Given the description of an element on the screen output the (x, y) to click on. 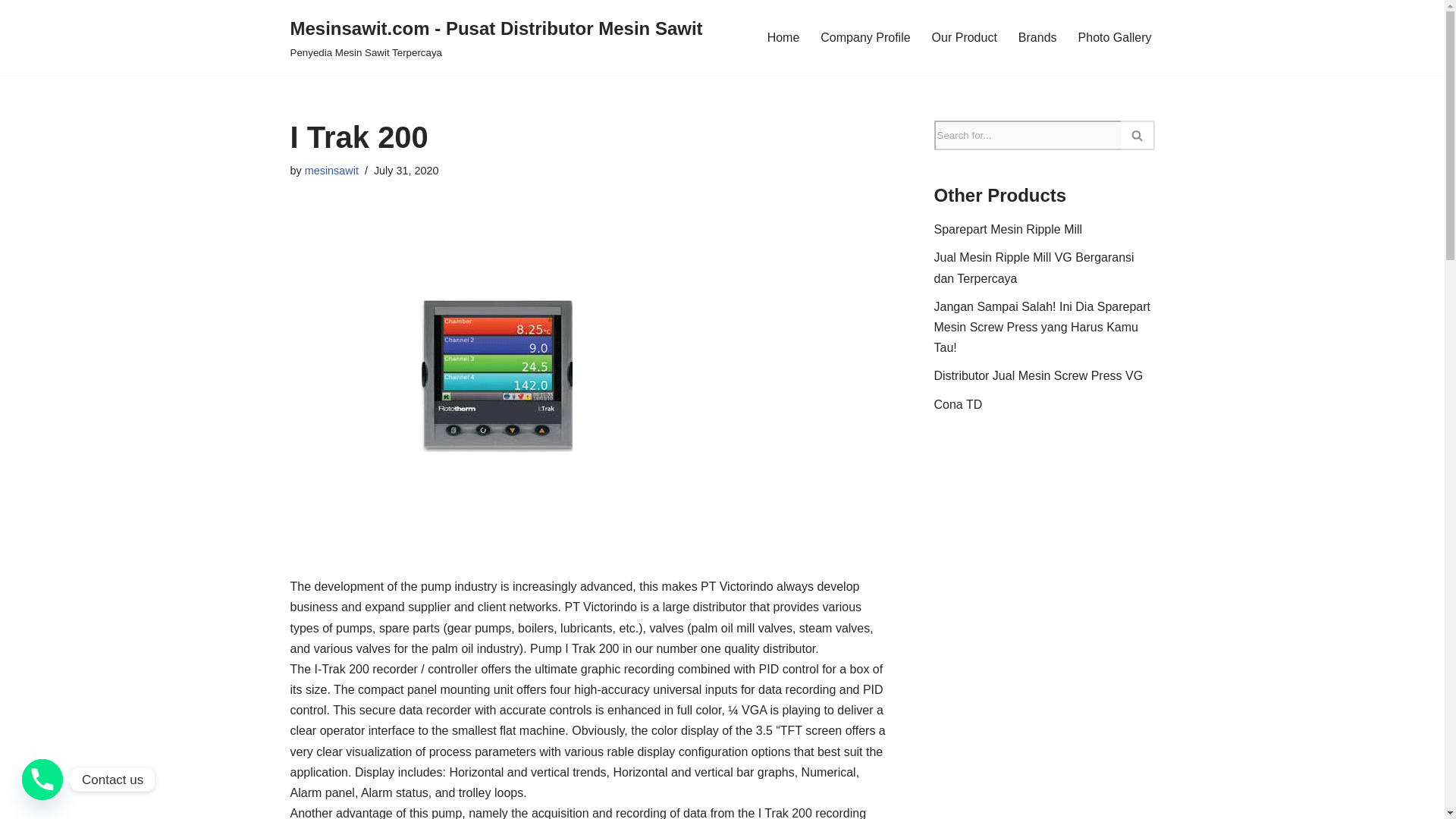
Jual Mesin Ripple Mill VG Bergaransi dan Terpercaya (1034, 267)
Home (783, 37)
Photo Gallery (1114, 37)
Cona TD (958, 404)
Contact us (41, 779)
Distributor Jual Mesin Screw Press VG (1038, 375)
Sparepart Mesin Ripple Mill (1008, 228)
Skip to content (11, 31)
